Given the description of an element on the screen output the (x, y) to click on. 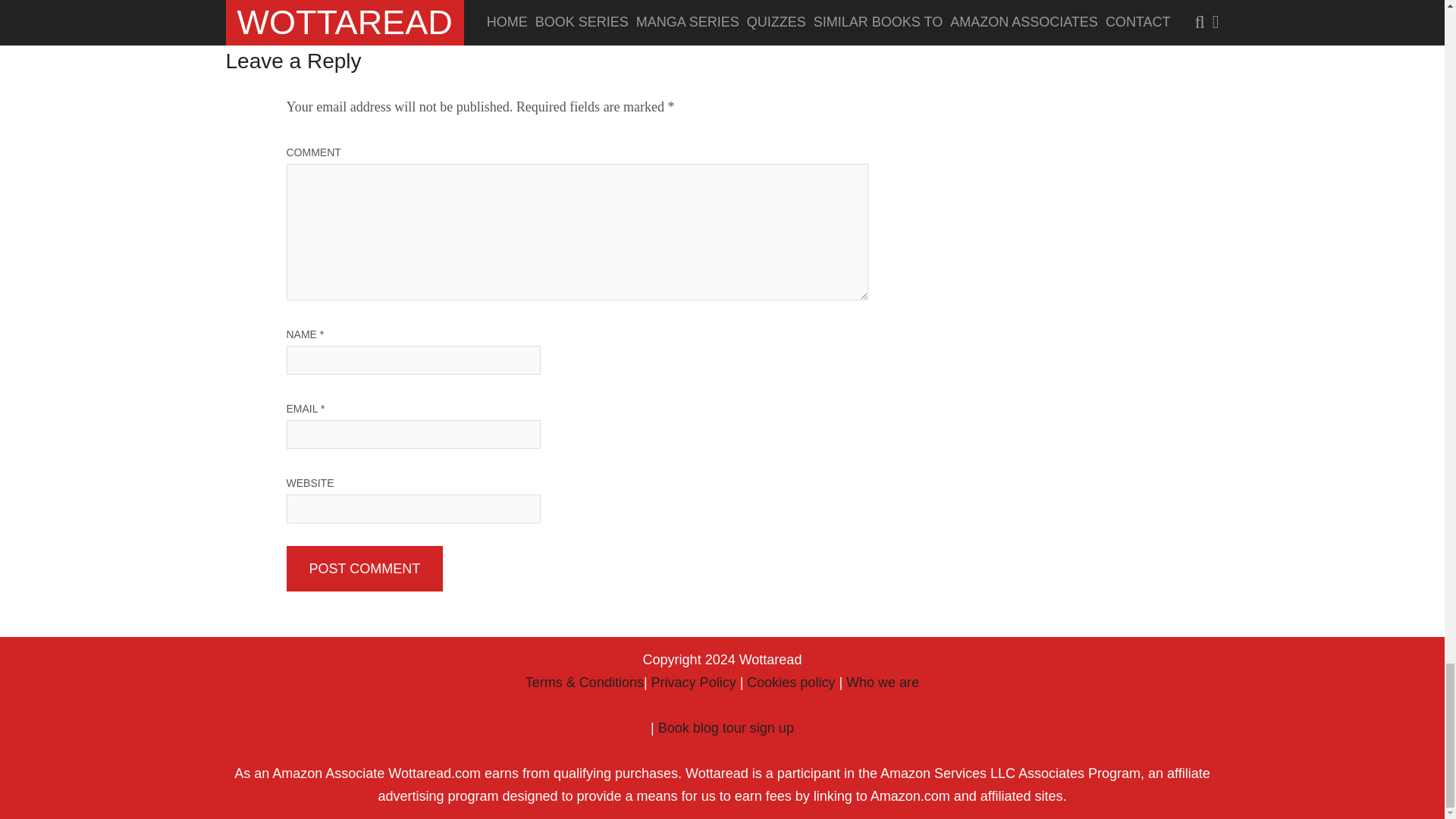
Post Comment (365, 568)
